Given the description of an element on the screen output the (x, y) to click on. 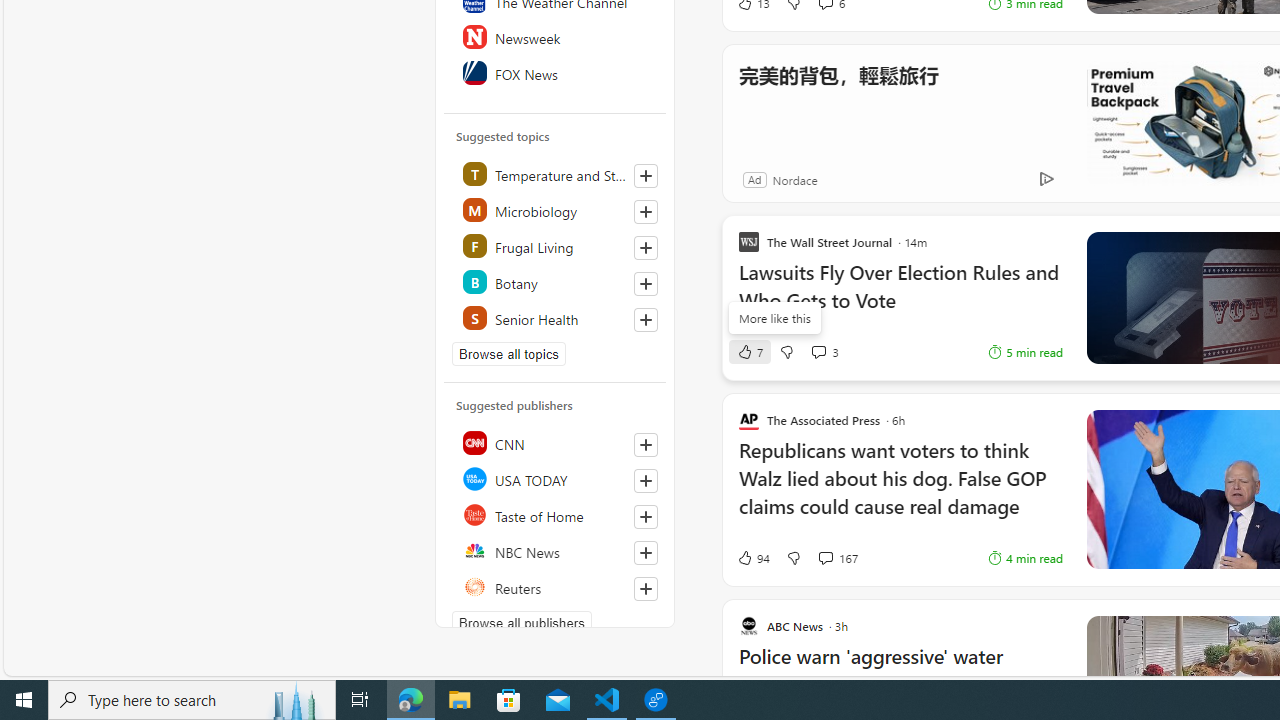
Browse all topics (509, 353)
Newsweek (556, 36)
View comments 167 Comment (837, 557)
Follow this topic (645, 319)
Class: highlight (556, 317)
View comments 167 Comment (825, 557)
Follow this source (645, 588)
Lawsuits Fly Over Election Rules and Who Gets to Vote (900, 296)
Follow this source (645, 588)
USA TODAY (556, 478)
Follow this topic (645, 319)
